Given the description of an element on the screen output the (x, y) to click on. 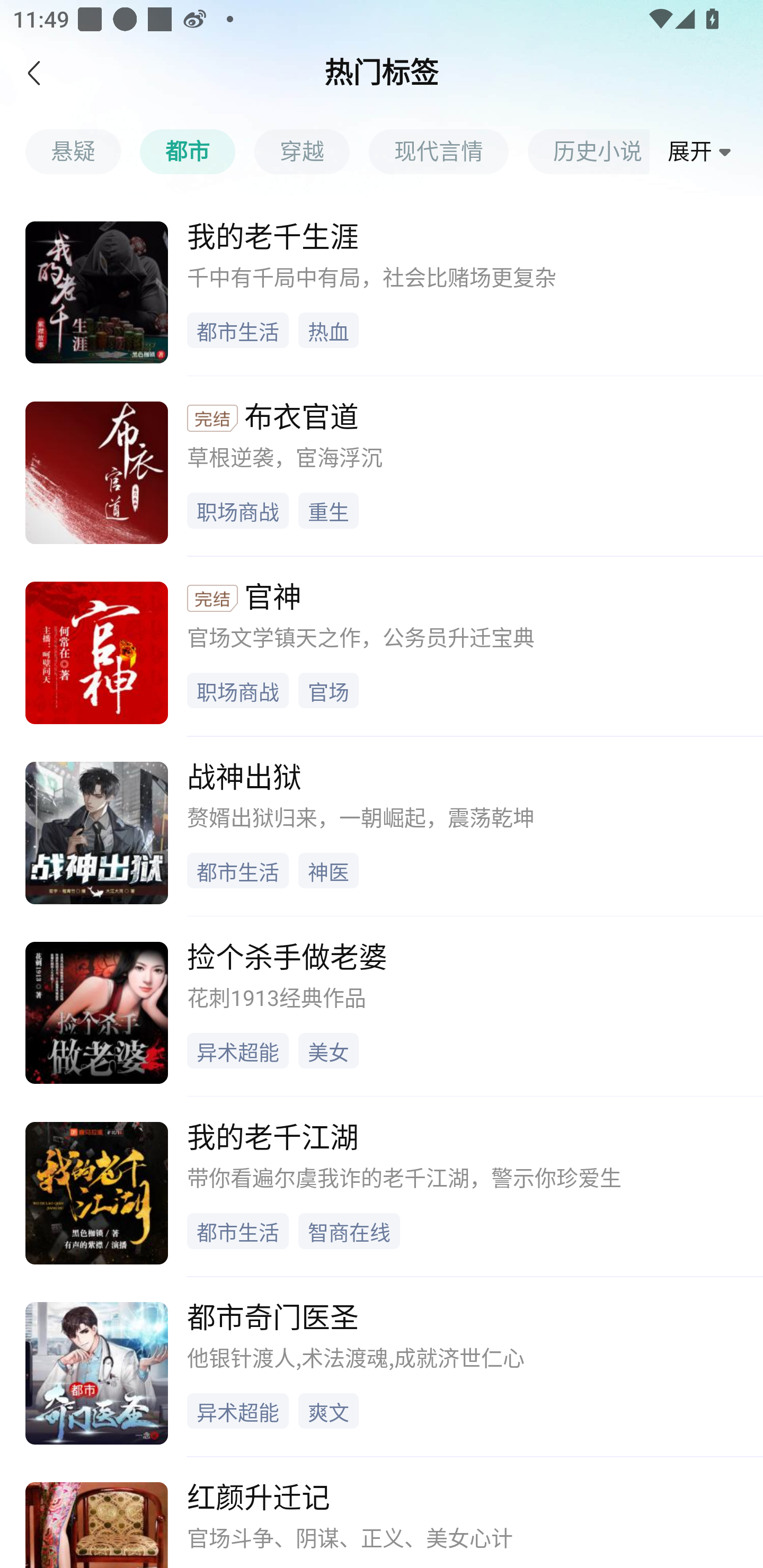
悬疑 (82, 151)
都市 (196, 151)
穿越 (311, 151)
现代言情 (447, 151)
历史小说 (588, 151)
展开 (702, 151)
我的老千生涯 千中有千局中有局，社会比赌场更复杂 都市生活 热血 (381, 286)
00布衣官道 草根逆袭，宦海浮沉 职场商战 重生 (381, 465)
00官神 官场文学镇天之作，公务员升迁宝典 职场商战 官场 (381, 645)
战神出狱 赘婿出狱归来，一朝崛起，震荡乾坤 都市生活 神医 (381, 825)
捡个杀手做老婆 花刺1913经典作品 异术超能 美女 (381, 1005)
我的老千江湖 带你看遍尔虞我诈的老千江湖，警示你珍爱生 都市生活 智商在线 (381, 1186)
都市奇门医圣 他银针渡人,术法渡魂,成就济世仁心 异术超能 爽文 (381, 1366)
红颜升迁记 官场斗争、阴谋、正义、美女心计 (381, 1512)
